Given the description of an element on the screen output the (x, y) to click on. 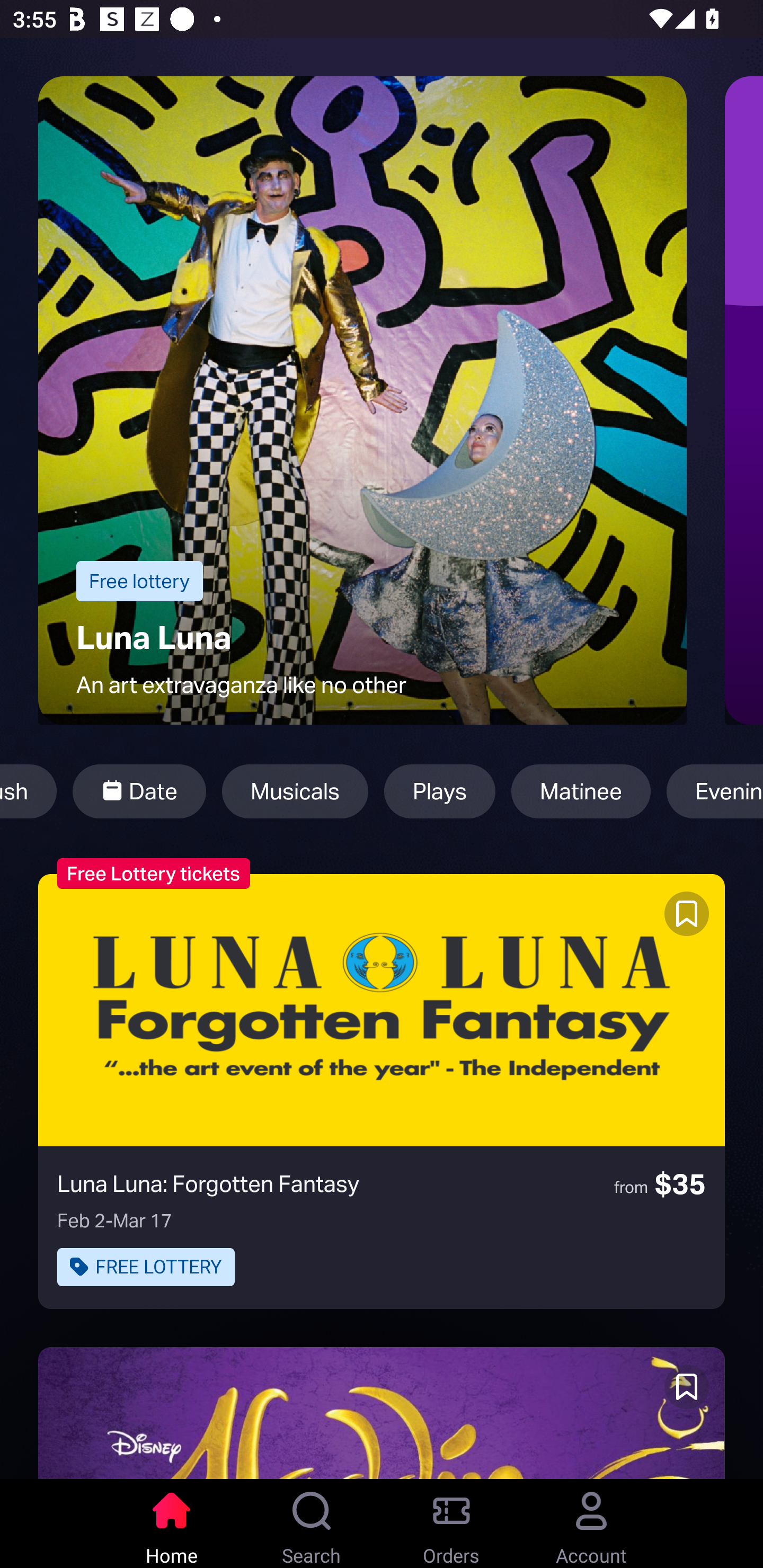
Date (139, 791)
Musicals (295, 791)
Plays (439, 791)
Matinee (580, 791)
Search (311, 1523)
Orders (451, 1523)
Account (591, 1523)
